Given the description of an element on the screen output the (x, y) to click on. 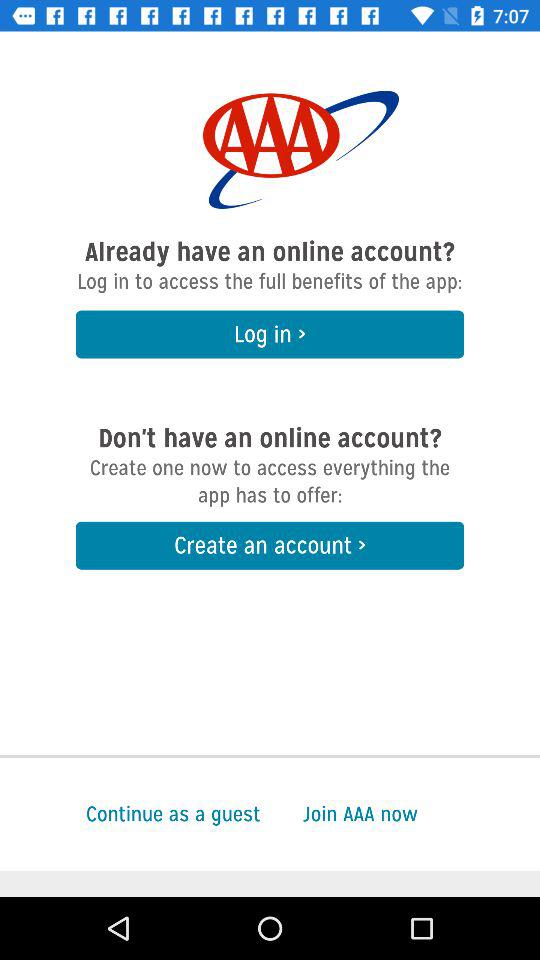
open item to the left of the join aaa now icon (130, 814)
